Given the description of an element on the screen output the (x, y) to click on. 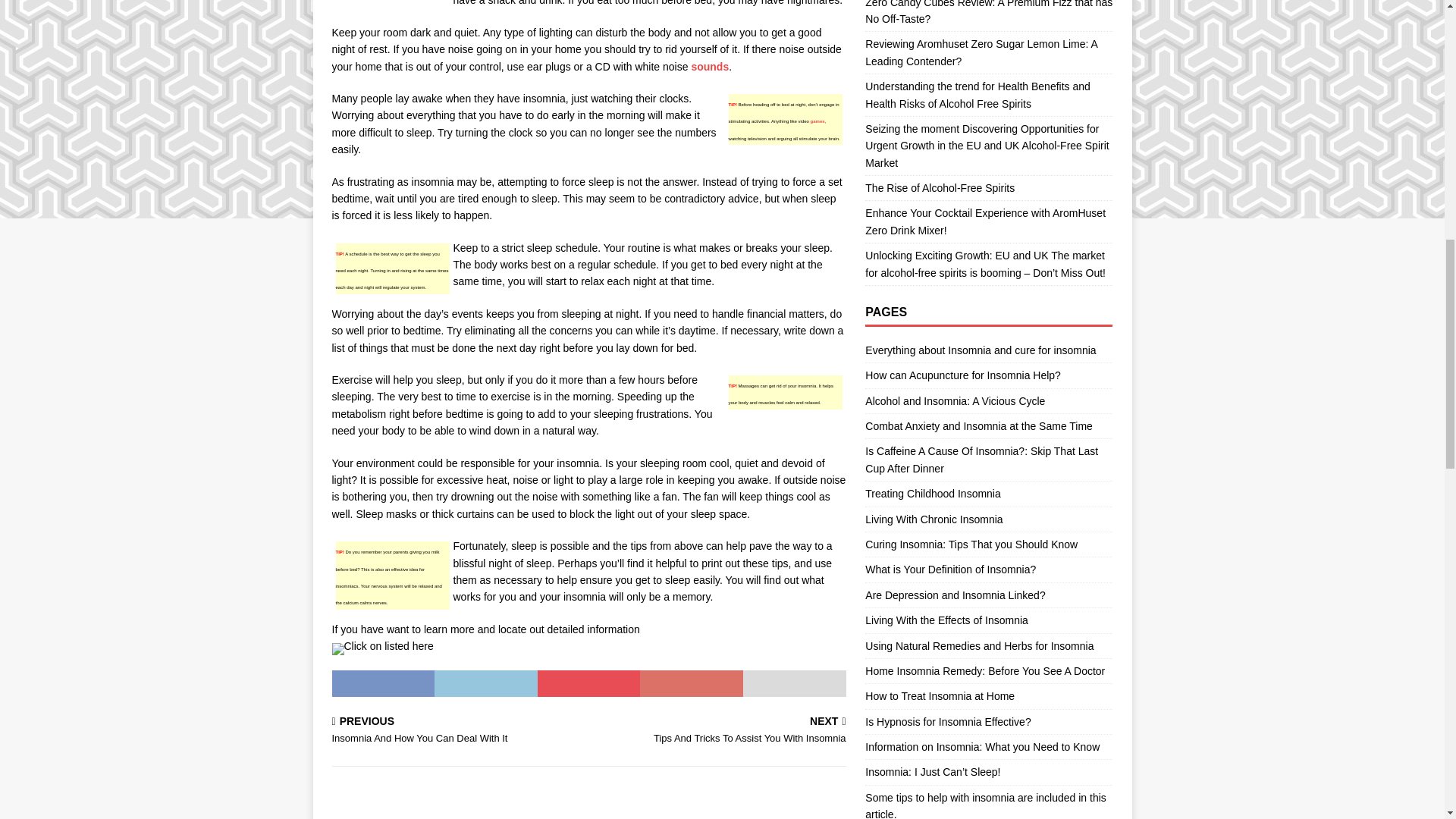
games (720, 730)
sounds (457, 730)
